Given the description of an element on the screen output the (x, y) to click on. 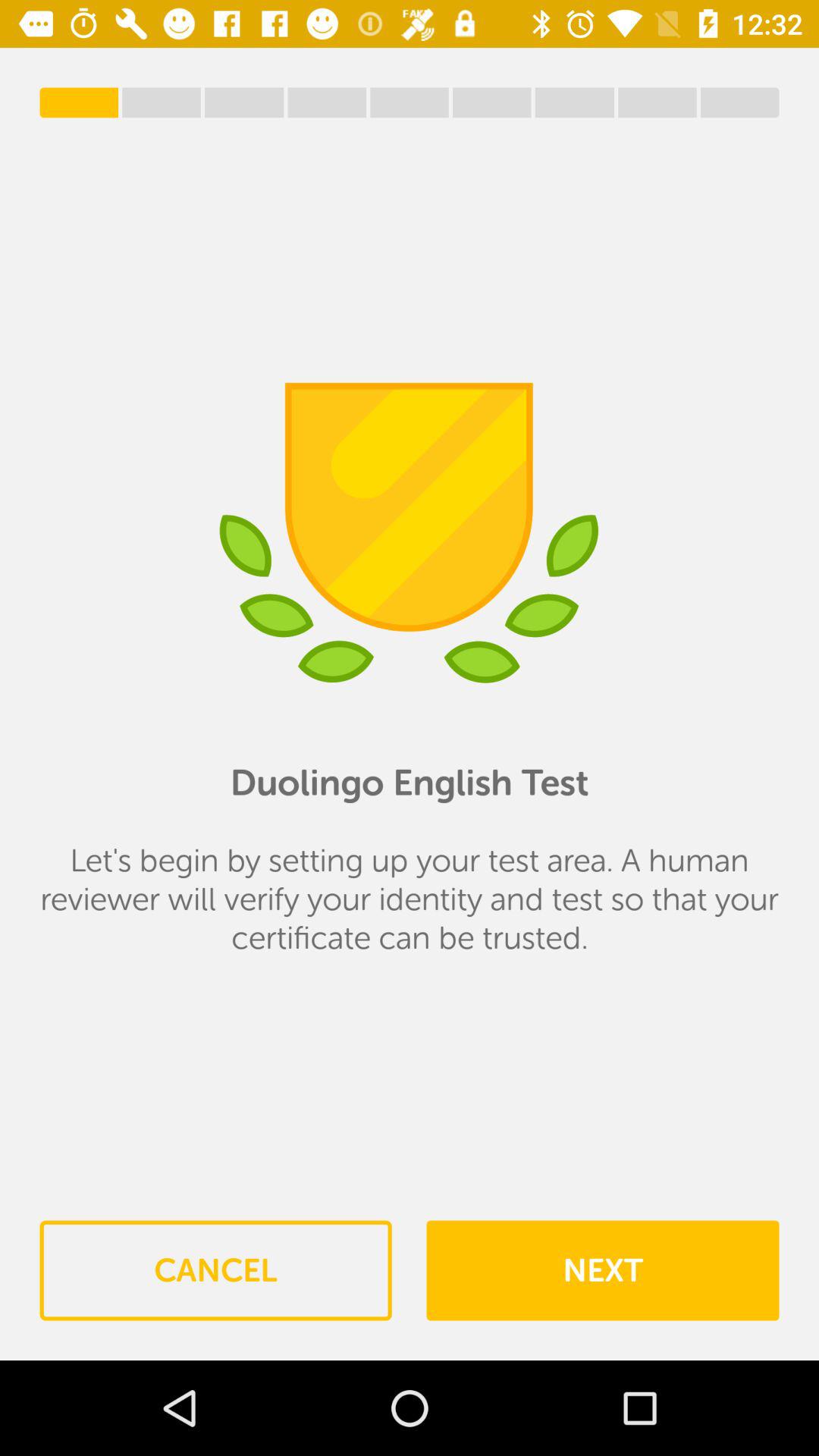
swipe to the next (602, 1270)
